Given the description of an element on the screen output the (x, y) to click on. 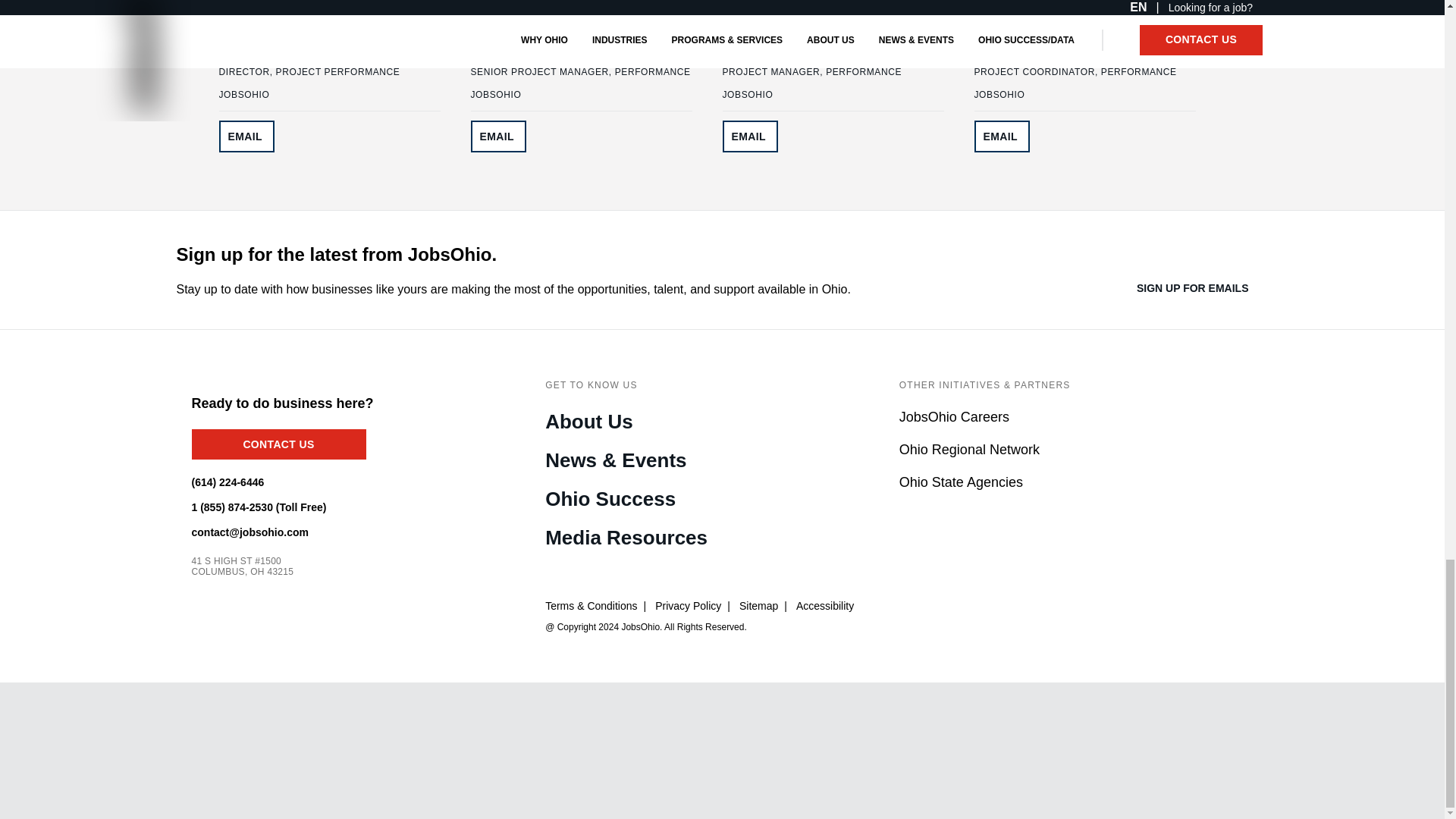
Accessibility (824, 606)
EMAIL (749, 136)
SIGN UP FOR EMAILS (1202, 288)
Media Resources (625, 539)
About Us (588, 422)
Ohio Success (609, 500)
EMAIL (1001, 136)
CONTACT US (277, 444)
About Us (588, 422)
Media Resources (625, 539)
